Given the description of an element on the screen output the (x, y) to click on. 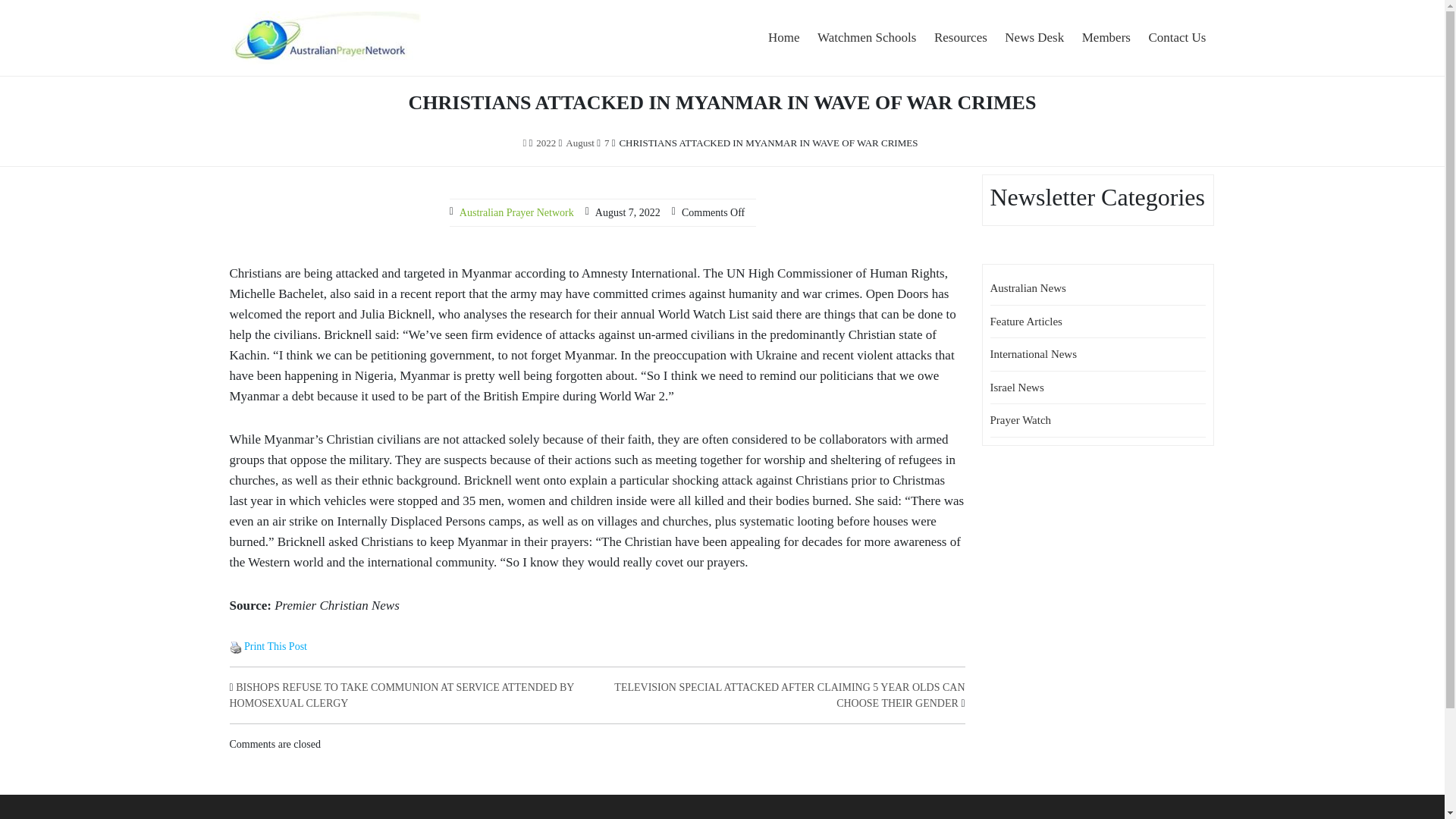
Print This Post (275, 645)
News Desk (1034, 37)
Watchmen Schools (866, 37)
Members (1106, 37)
Home (784, 37)
Australian Prayer Network (386, 83)
Print This Post (234, 645)
Posts by Australian Prayer Network (516, 212)
Resources (960, 37)
Print This Post (234, 647)
